Given the description of an element on the screen output the (x, y) to click on. 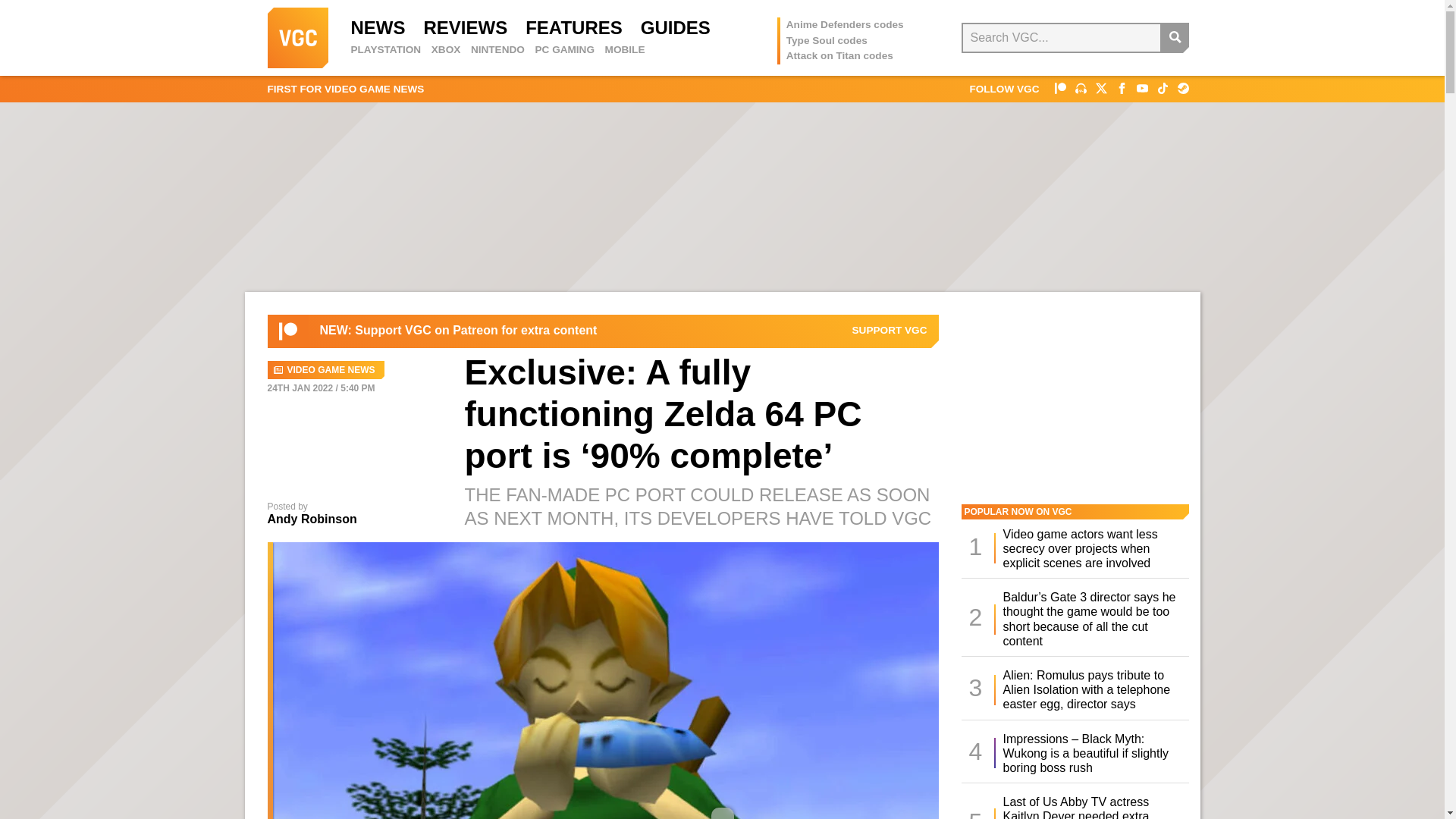
REVIEWS (464, 27)
NEWS (377, 27)
NINTENDO (497, 49)
Anime Defenders codes (845, 24)
FEATURES (574, 27)
MOBILE (625, 49)
VIDEO GAME NEWS (325, 370)
PC GAMING (564, 49)
PLAYSTATION (385, 49)
VGC (296, 37)
